Given the description of an element on the screen output the (x, y) to click on. 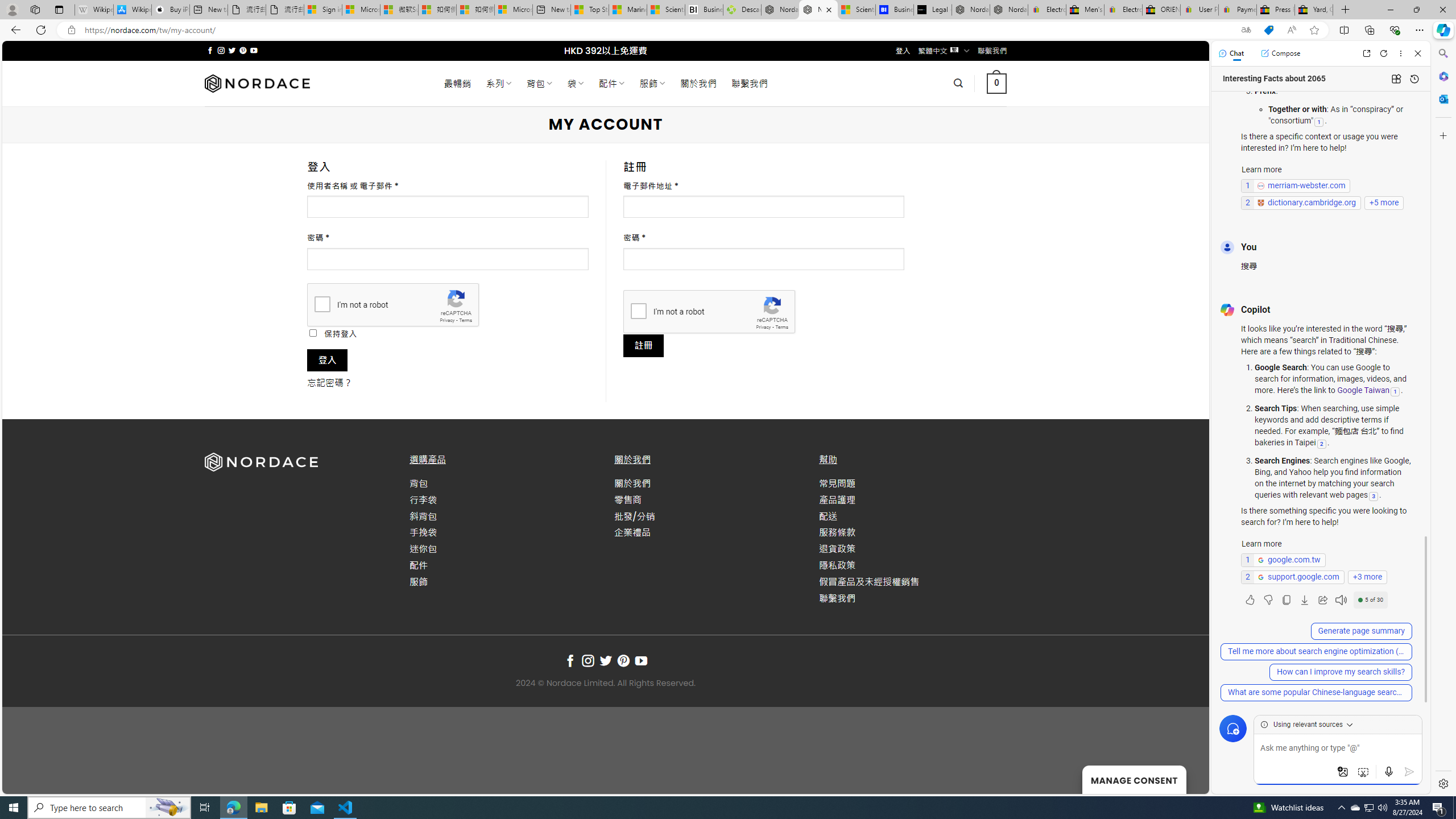
Follow on Pinterest (622, 660)
I'm not a robot (638, 310)
